Given the description of an element on the screen output the (x, y) to click on. 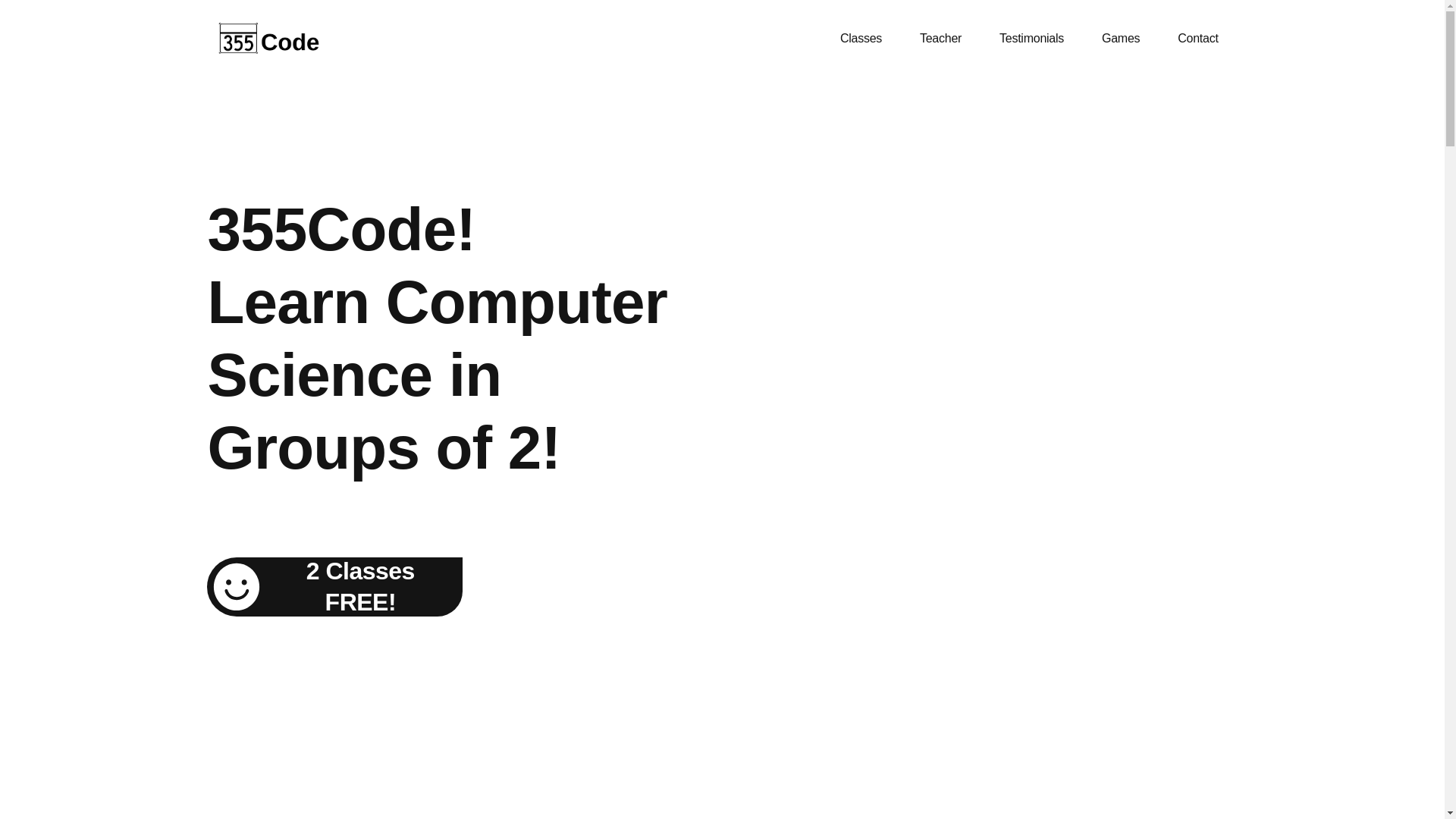
Teacher Element type: text (940, 38)
355Code: Course Introduction! Element type: hover (1026, 368)
2 Classes FREE! Element type: text (334, 586)
Classes Element type: text (860, 38)
Contact Element type: text (1197, 38)
Games Element type: text (1120, 38)
Testimonials Element type: text (1031, 38)
